Given the description of an element on the screen output the (x, y) to click on. 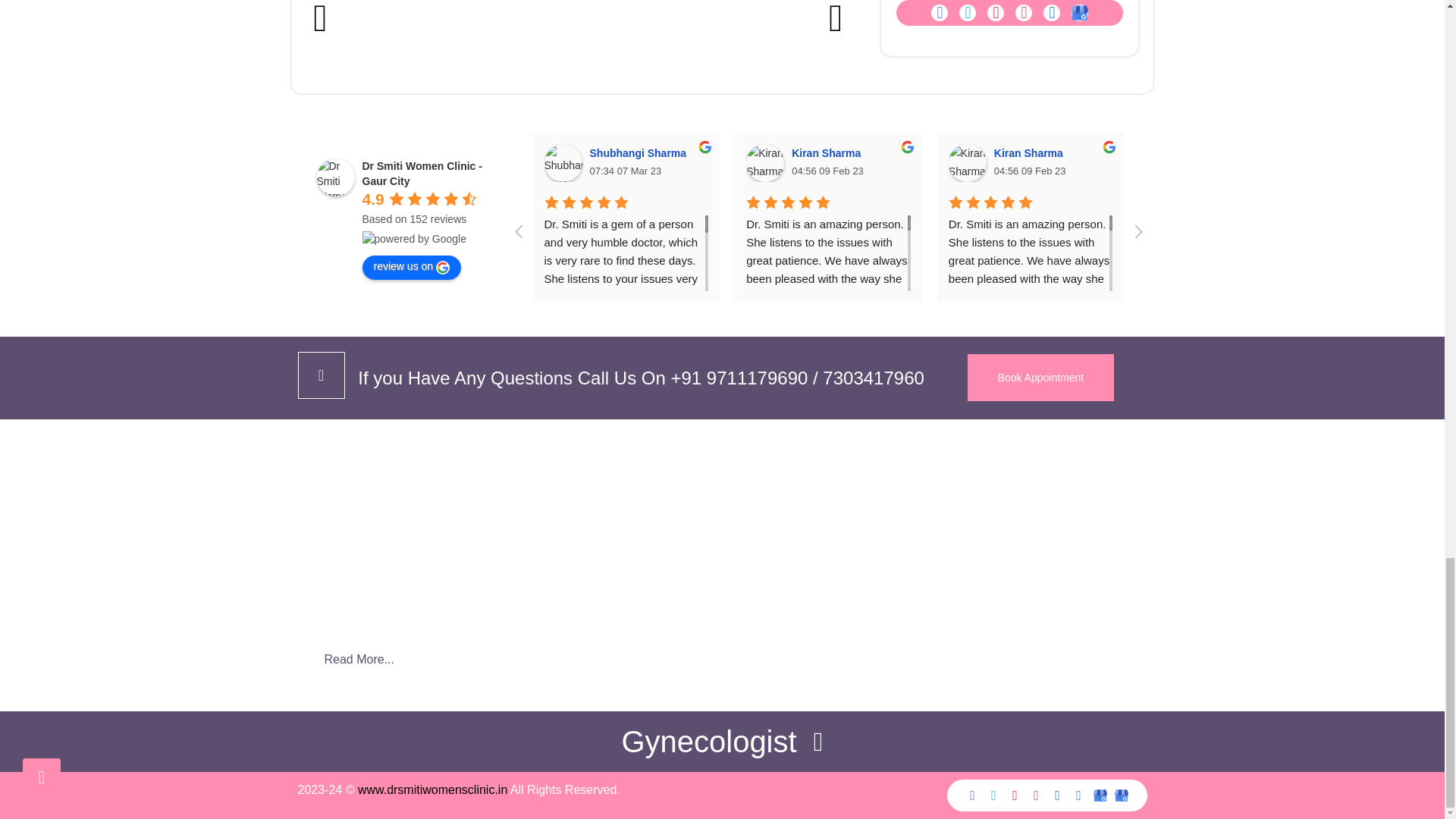
powered by Google (413, 238)
Radhey Arora (1169, 162)
Kiran Sharma (968, 162)
Shubhangi Sharma (563, 162)
Dr Smiti Women Clinic - Gaur City (336, 177)
Kiran Sharma (764, 162)
YASHI SRIVASTAVA (1371, 162)
